Given the description of an element on the screen output the (x, y) to click on. 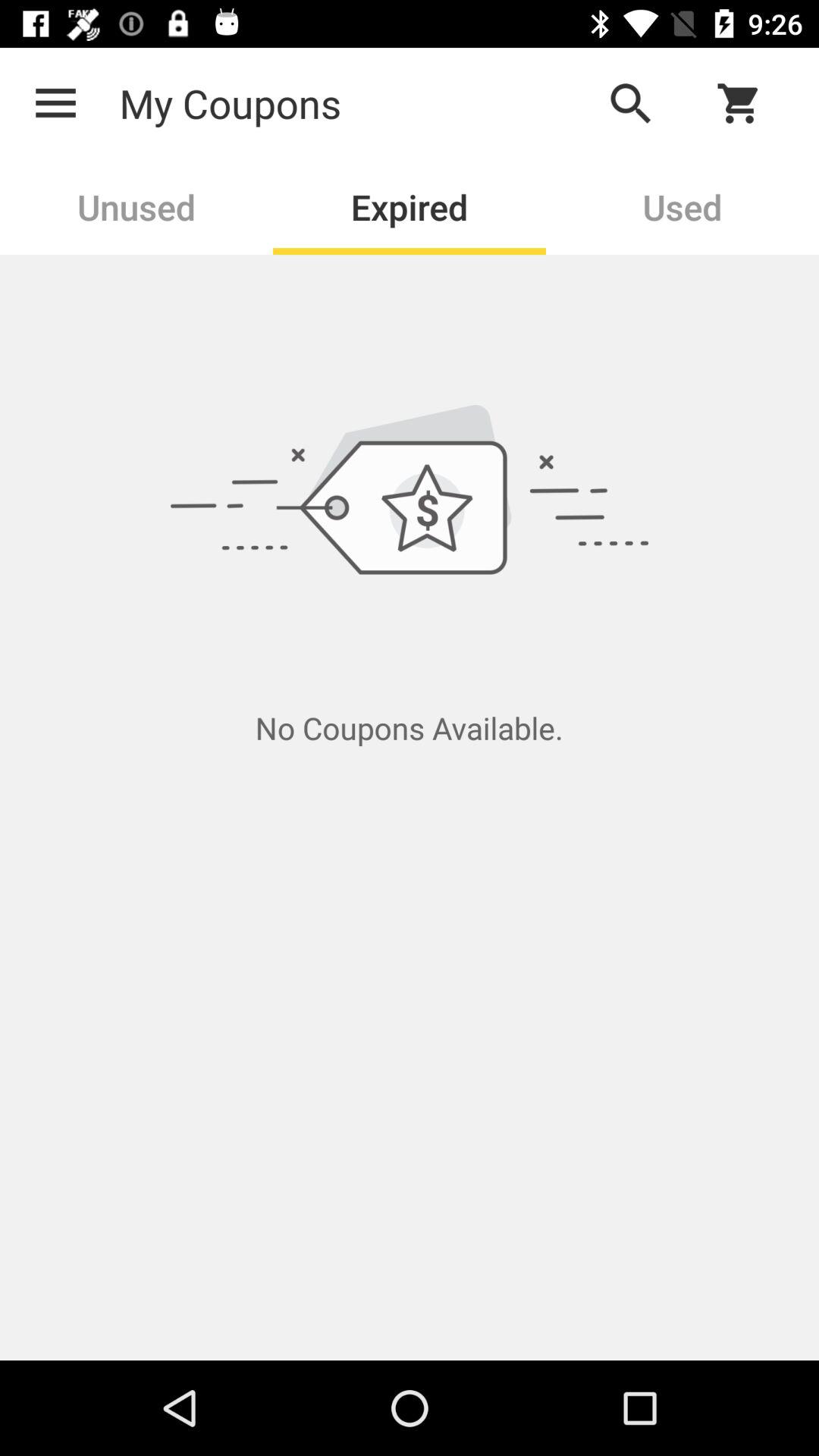
go to purches (748, 103)
